Given the description of an element on the screen output the (x, y) to click on. 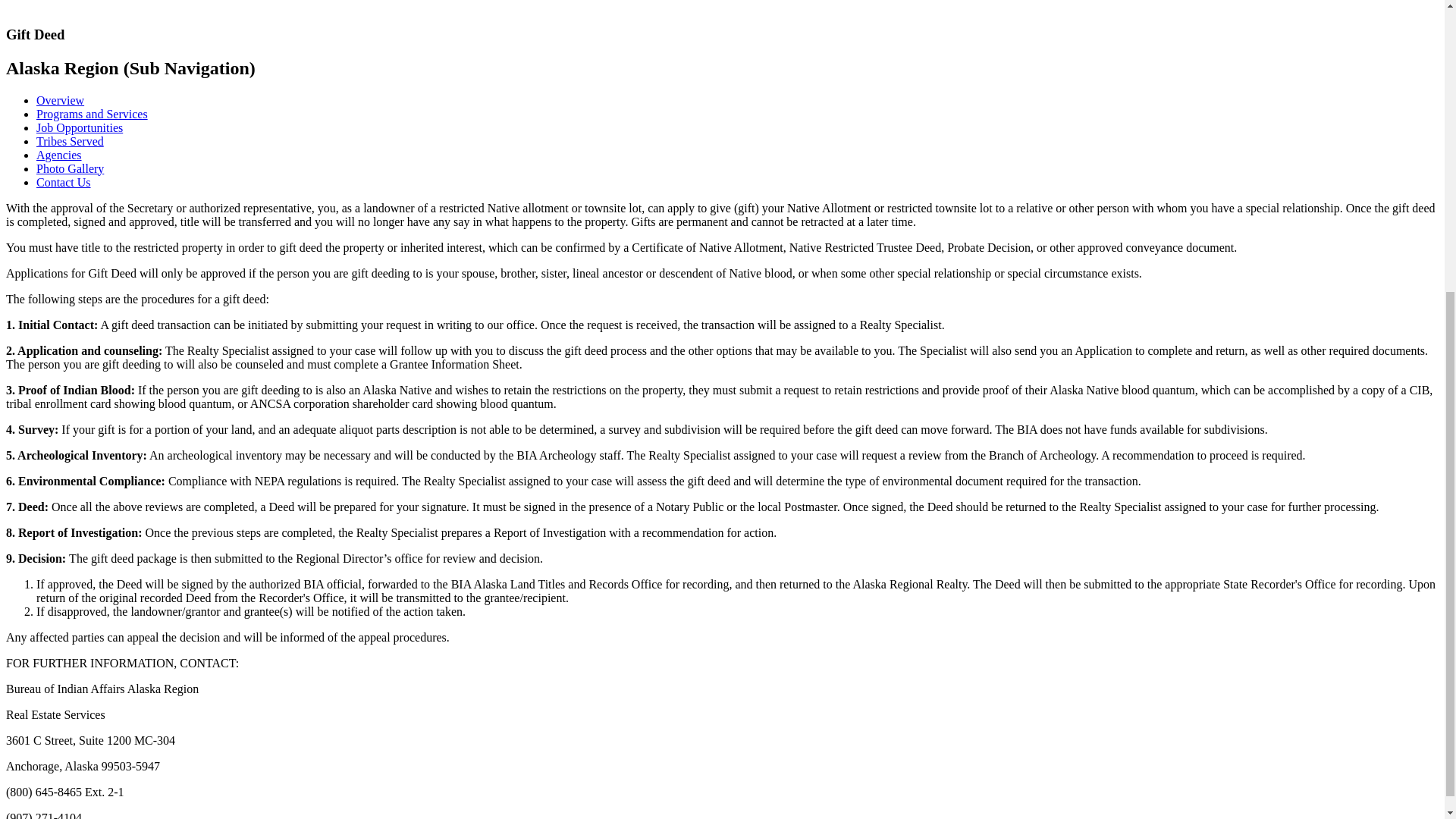
Job Opportunities (79, 127)
Programs and Services (92, 113)
Agencies (58, 154)
Tribes Served (69, 141)
Photo Gallery (69, 168)
Contact Us (63, 182)
Overview (60, 100)
